Given the description of an element on the screen output the (x, y) to click on. 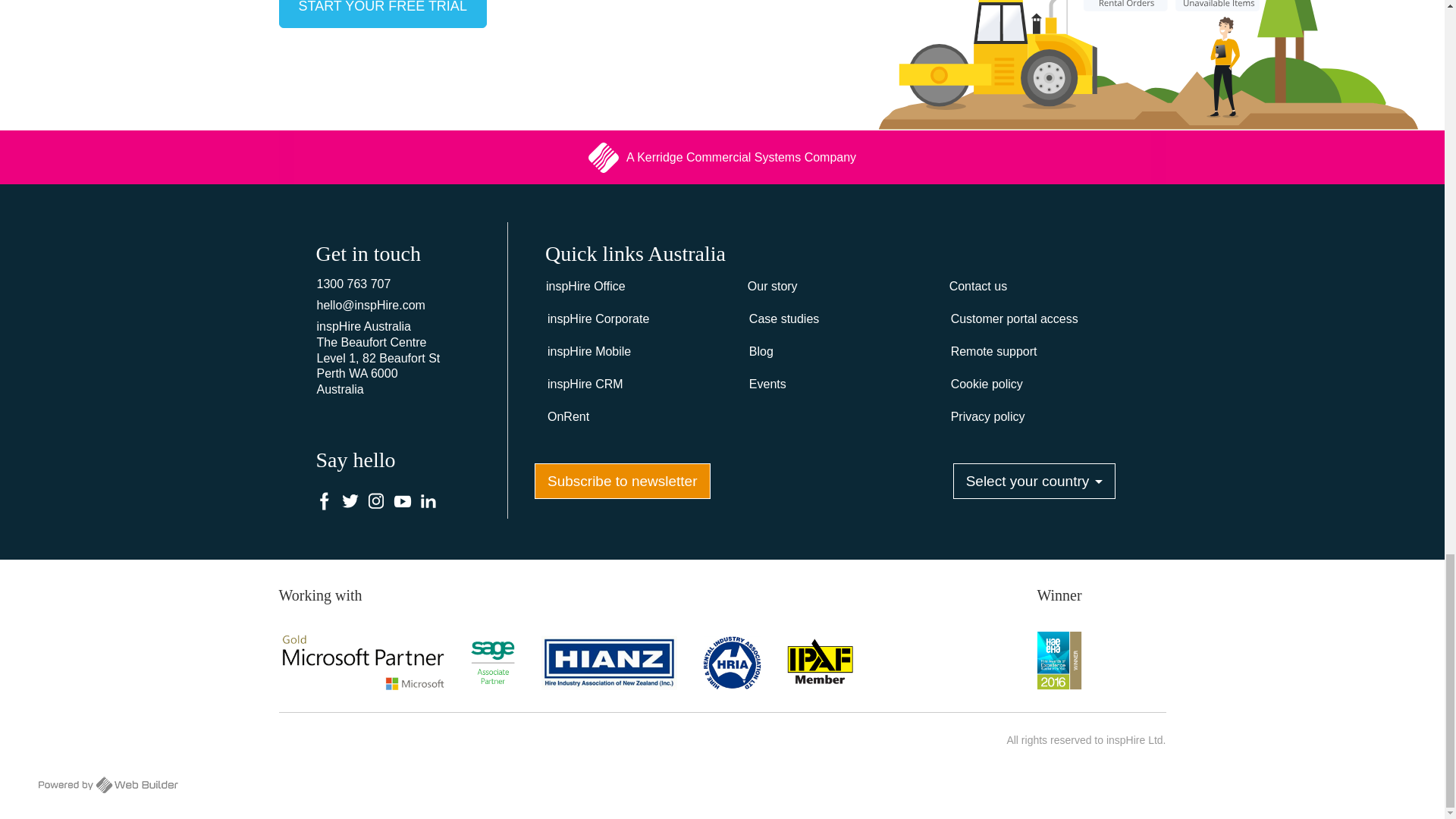
Watch Our Youtube Videos (402, 502)
Cookie policy (1039, 384)
Follow Us on Instagram (376, 502)
A Kerridge Commercial Systems Company (721, 157)
Follow Us on Linkedin (427, 502)
Our story (836, 286)
Privacy policy (1039, 417)
START YOUR FREE TRIAL (382, 13)
inspHire CRM (635, 384)
Subscribe to newsletter (622, 480)
Remote support (1039, 351)
inspHire Mobile (635, 351)
Blog (837, 351)
inspHire Corporate (635, 318)
Case studies (837, 318)
